Given the description of an element on the screen output the (x, y) to click on. 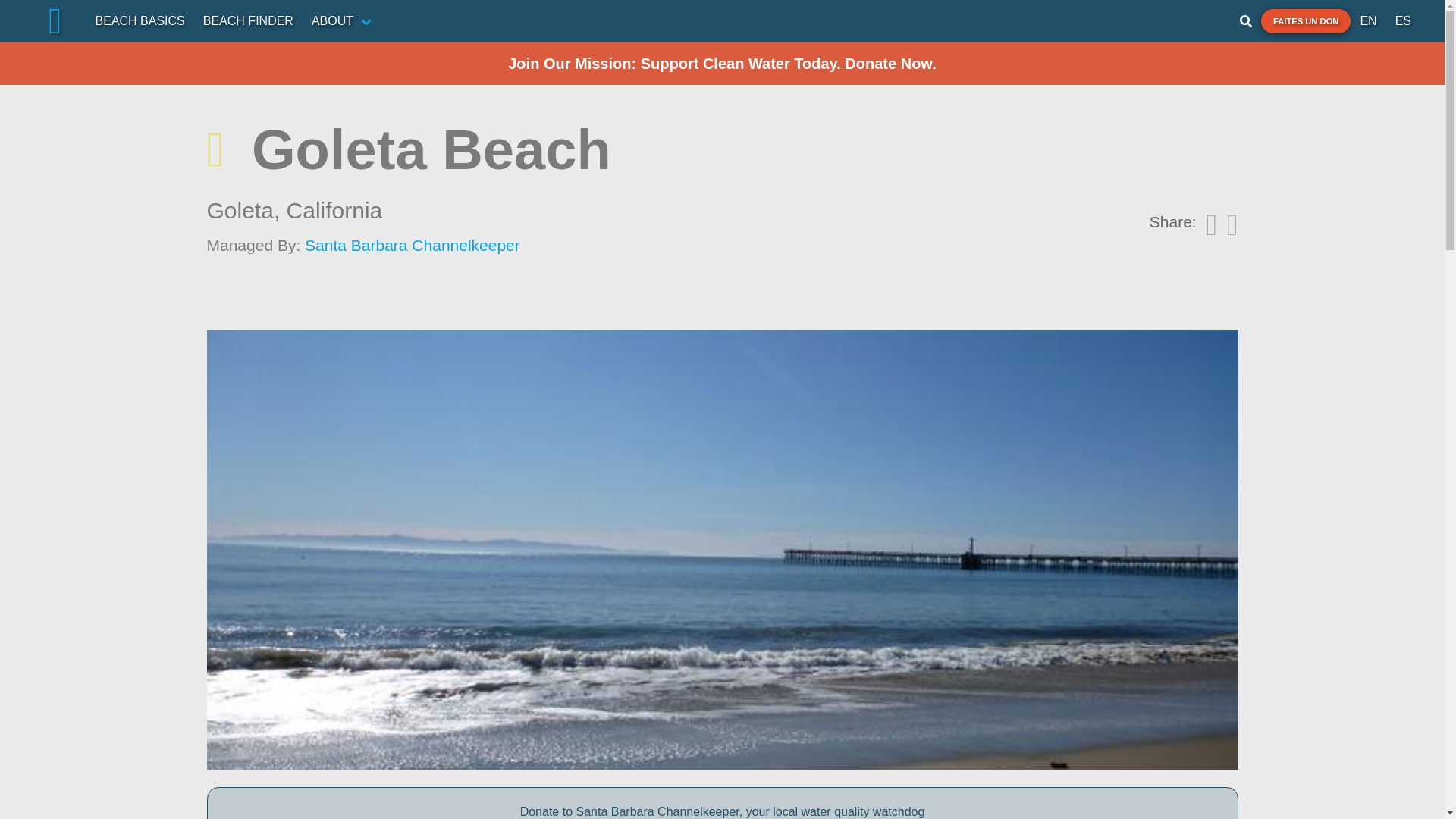
FAITES UN DON (1305, 21)
EN (1368, 20)
ES (1403, 20)
Santa Barbara Channelkeeper (411, 244)
BEACH FINDER (247, 20)
California (334, 210)
ABOUT (343, 20)
Join Our Mission: Support Clean Water Today. Donate Now. (722, 63)
BEACH BASICS (139, 20)
